Given the description of an element on the screen output the (x, y) to click on. 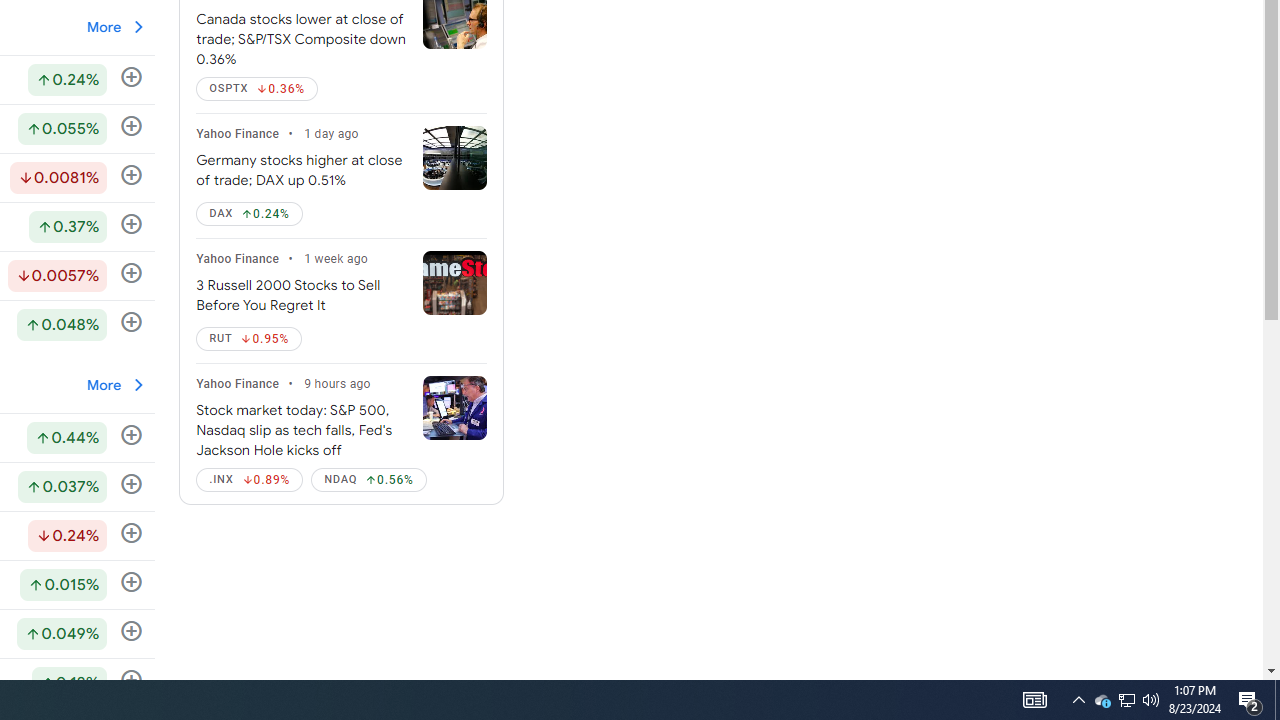
DAX Up by 0.24% (249, 214)
NDAQ Up by 0.56% (369, 479)
RUT Down by 0.95% (249, 338)
More (117, 384)
More (117, 385)
.INX Down by 0.89% (249, 479)
Follow (131, 680)
OSPTX Down by 0.36% (256, 88)
